Given the description of an element on the screen output the (x, y) to click on. 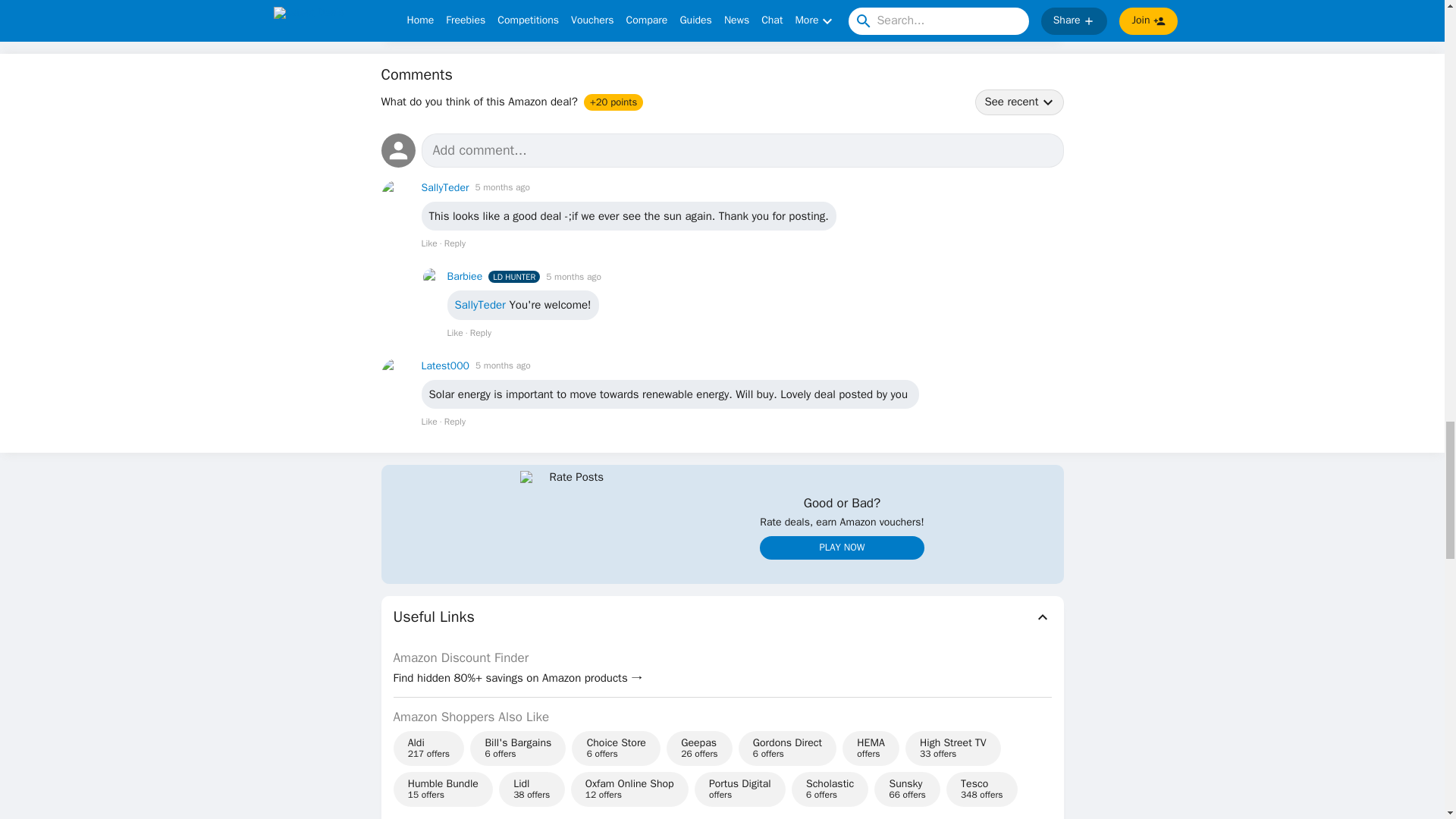
SallyTeder (445, 187)
Barbiee (464, 276)
Latest000 (446, 365)
